Given the description of an element on the screen output the (x, y) to click on. 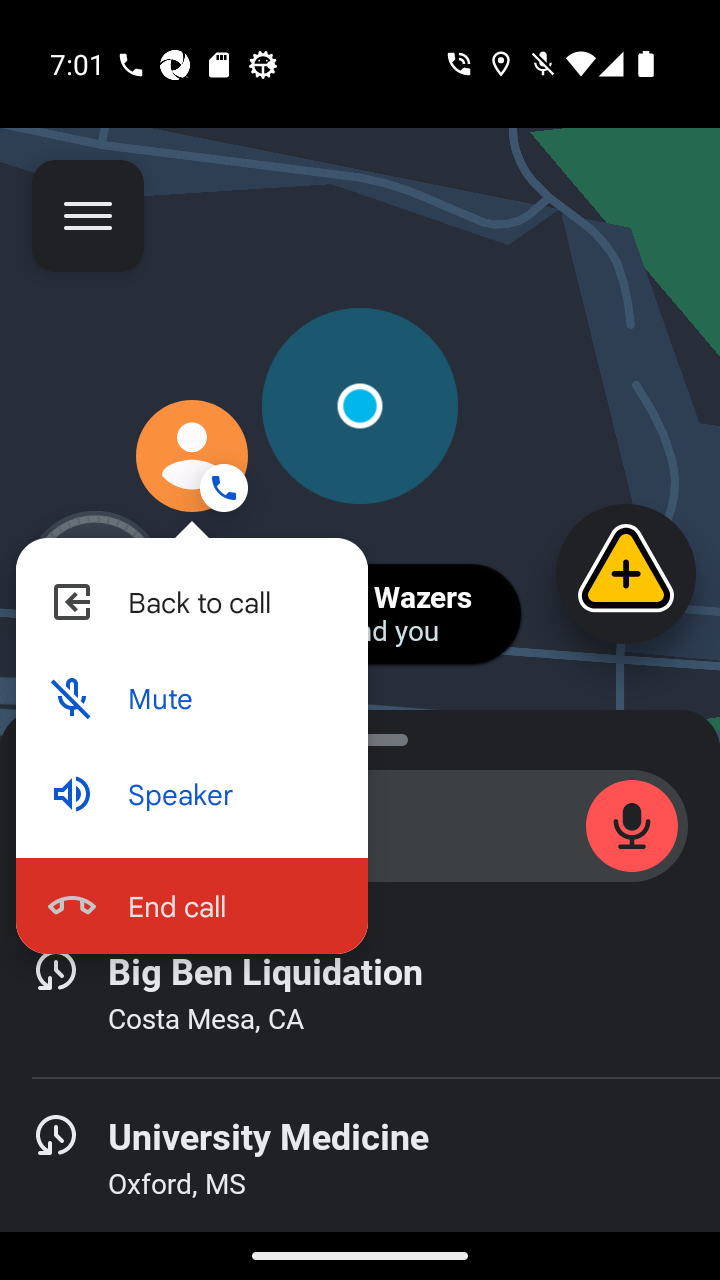
Back to call (191, 602)
Mute (191, 698)
Speaker (191, 794)
End call (191, 905)
